Given the description of an element on the screen output the (x, y) to click on. 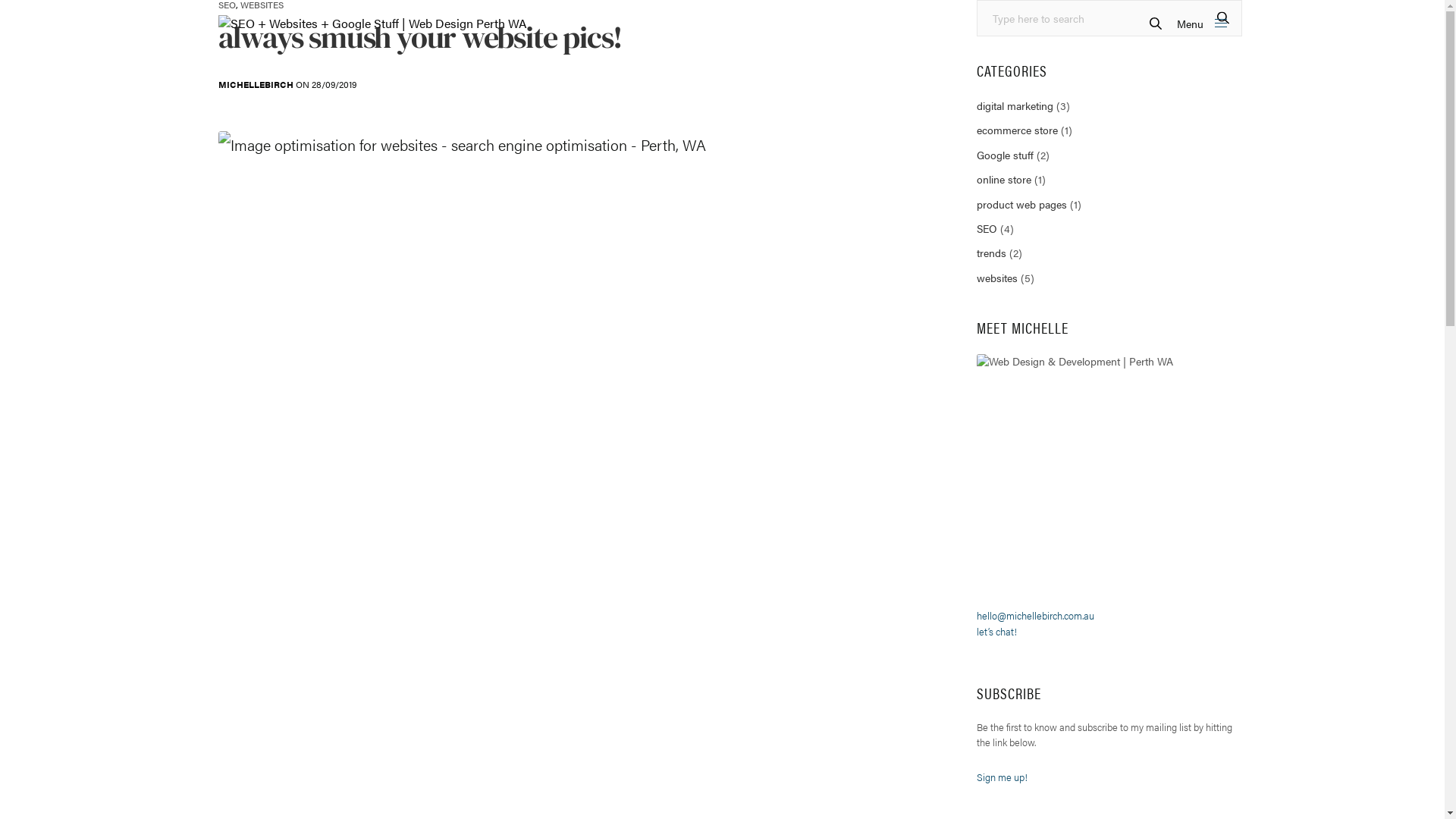
Michelle Birch Element type: text (287, 795)
Sign me up! Element type: text (1001, 776)
SEO Element type: text (986, 227)
WEBSITES Element type: text (260, 4)
Google stuff Element type: text (1004, 154)
hello@michellebirch.com.au Element type: text (1035, 615)
ecommerce store Element type: text (1016, 129)
SEO + Websites + Google Stuff | Web Design Perth WA Element type: hover (372, 23)
SEO Element type: text (226, 4)
trends Element type: text (991, 252)
websites Element type: text (996, 277)
product web pages Element type: text (1021, 203)
digital marketing Element type: text (1014, 104)
MICHELLEBIRCH Element type: text (255, 84)
online store Element type: text (1003, 178)
